Given the description of an element on the screen output the (x, y) to click on. 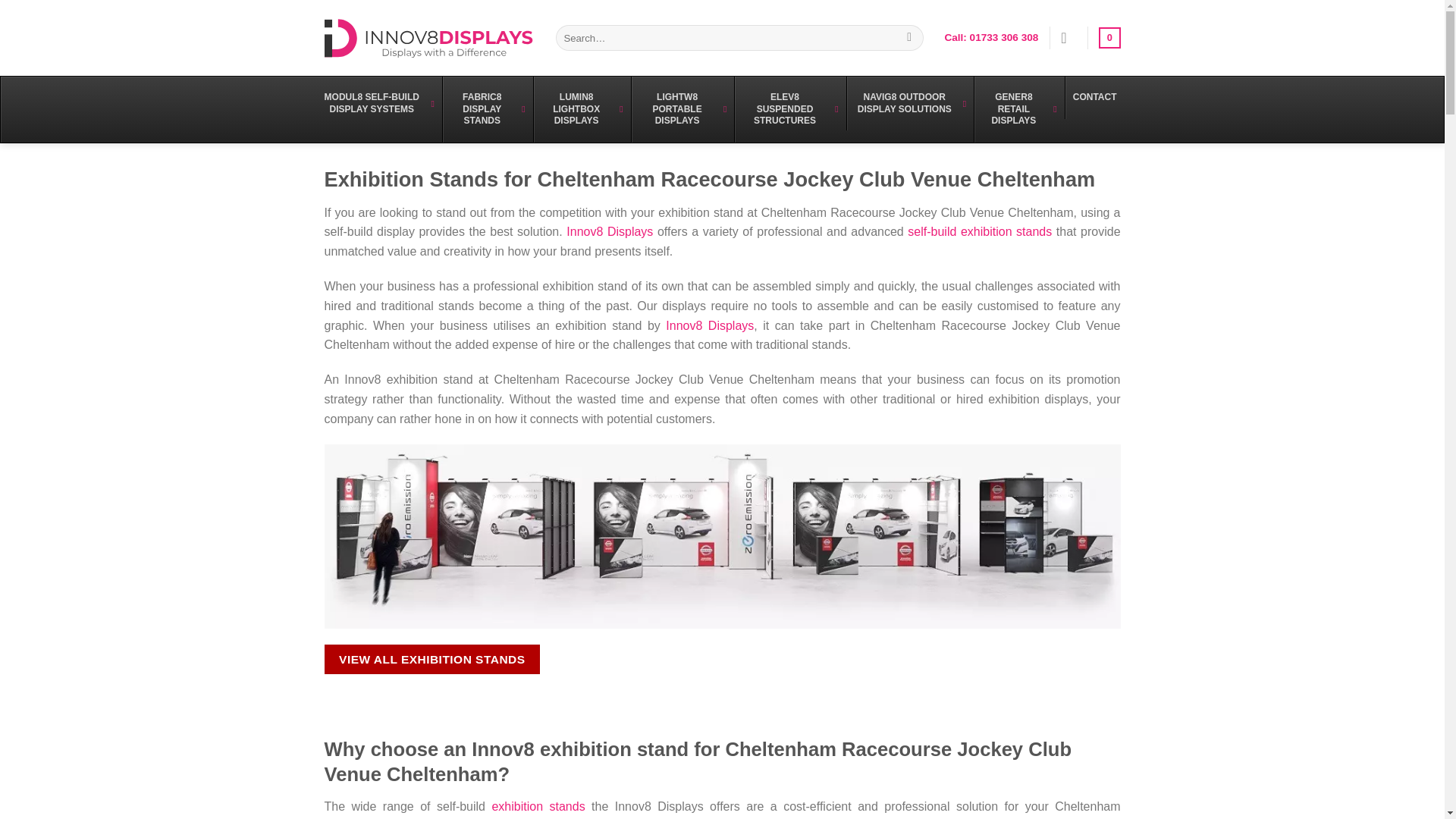
LUMIN8 LIGHTBOX DISPLAYS (581, 109)
QuickStand Reconfigured (722, 535)
Search (908, 37)
ELEV8 SUSPENDED STRUCTURES (789, 109)
FABRIC8 DISPLAY STANDS (487, 109)
Call: 01733 306 308 (990, 37)
Innov8 Displays - Displays with a Difference (428, 37)
NAVIG8 OUTDOOR DISPLAY SOLUTIONS (909, 103)
LIGHTW8 PORTABLE DISPLAYS (682, 109)
MODUL8 SELF-BUILD DISPLAY SYSTEMS (377, 103)
